Given the description of an element on the screen output the (x, y) to click on. 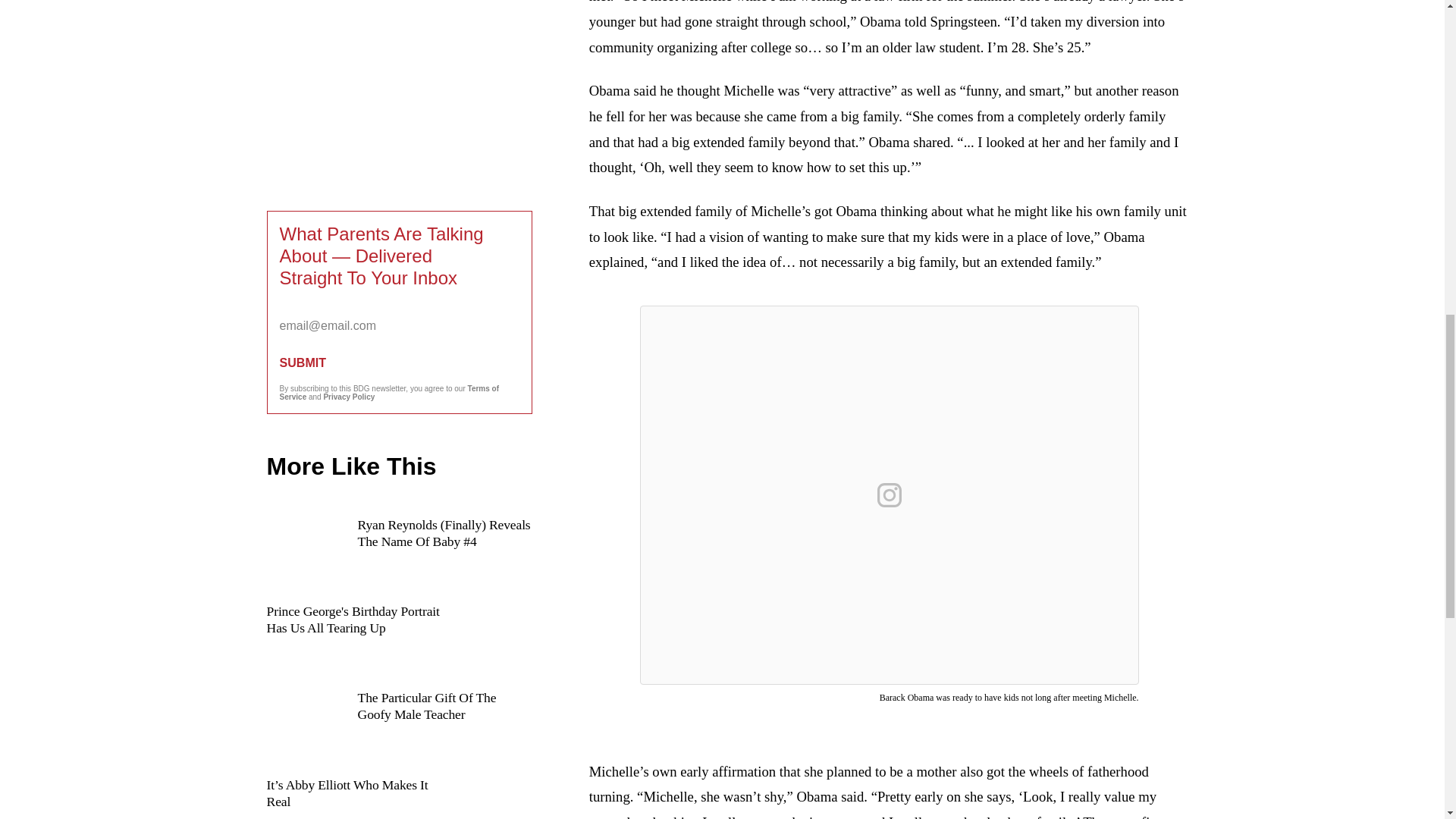
SUBMIT (399, 363)
View on Instagram (888, 494)
Terms of Service (389, 392)
Privacy Policy (348, 397)
The Particular Gift Of The Goofy Male Teacher (399, 724)
Prince George's Birthday Portrait Has Us All Tearing Up (399, 637)
